Given the description of an element on the screen output the (x, y) to click on. 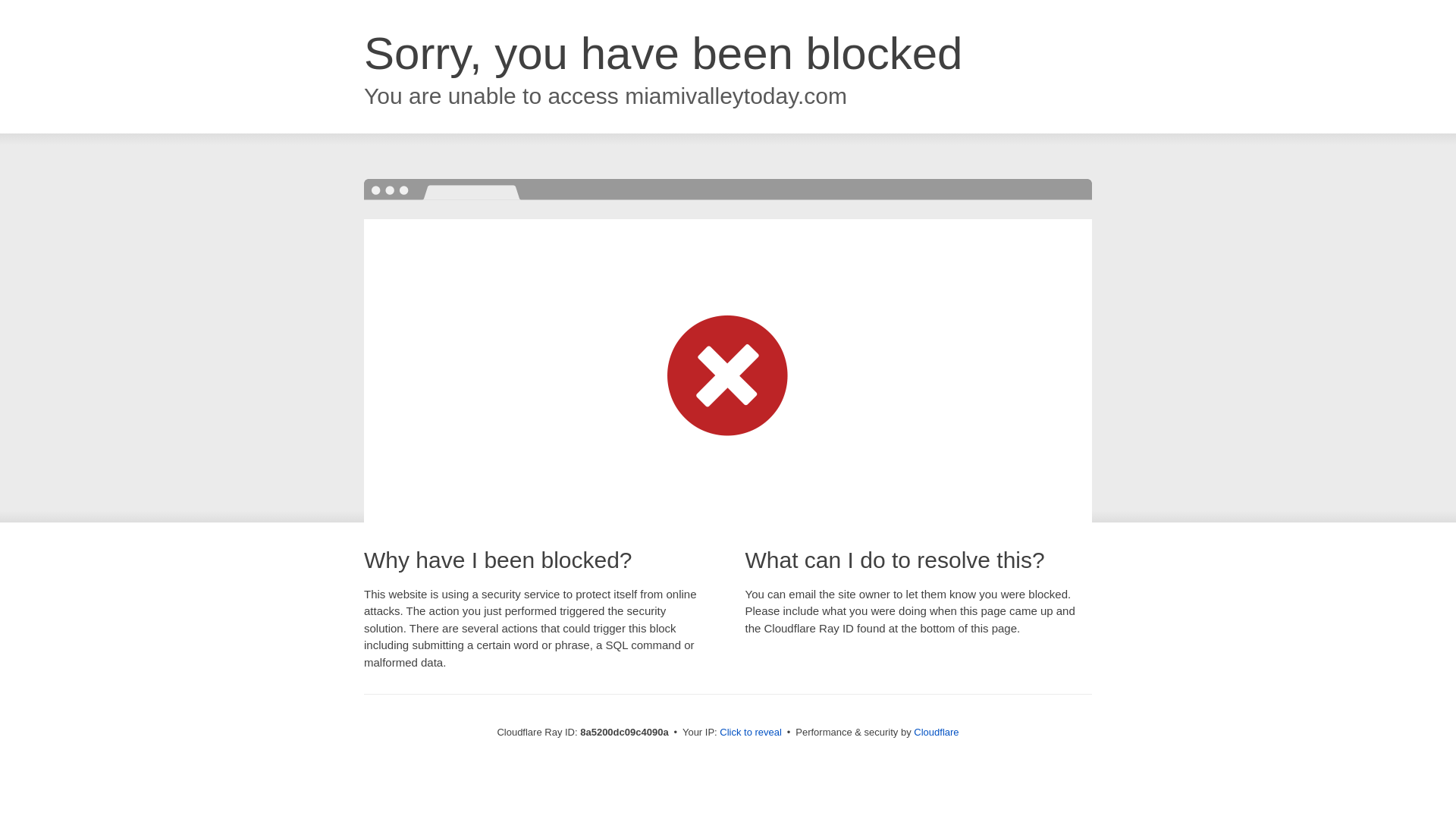
Click to reveal (750, 732)
Cloudflare (936, 731)
